Given the description of an element on the screen output the (x, y) to click on. 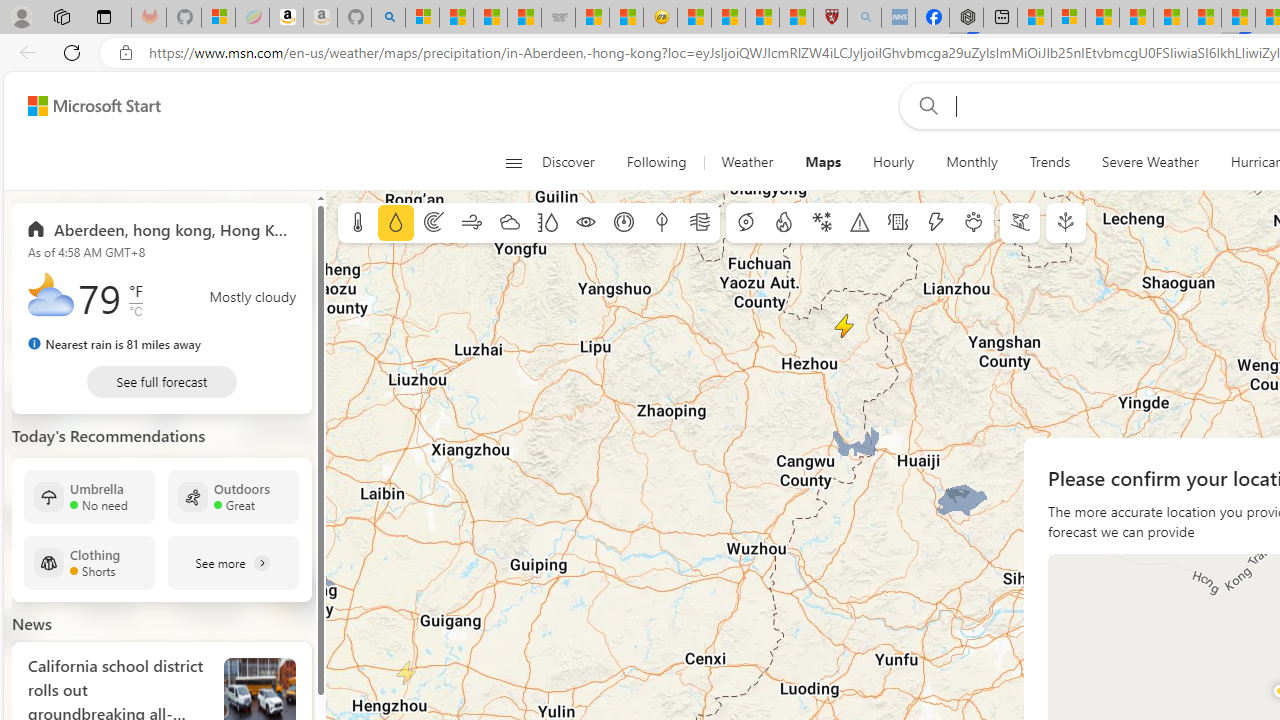
Sea level pressure (623, 223)
Nearest rain is 81 miles away (114, 344)
Nordace - Nordace Siena Is Not An Ordinary Backpack (966, 17)
Temperature (358, 223)
Workspaces (61, 16)
Microsoft-Report a Concern to Bing (218, 17)
See full forecast (161, 381)
Robert H. Shmerling, MD - Harvard Health (830, 17)
